Given the description of an element on the screen output the (x, y) to click on. 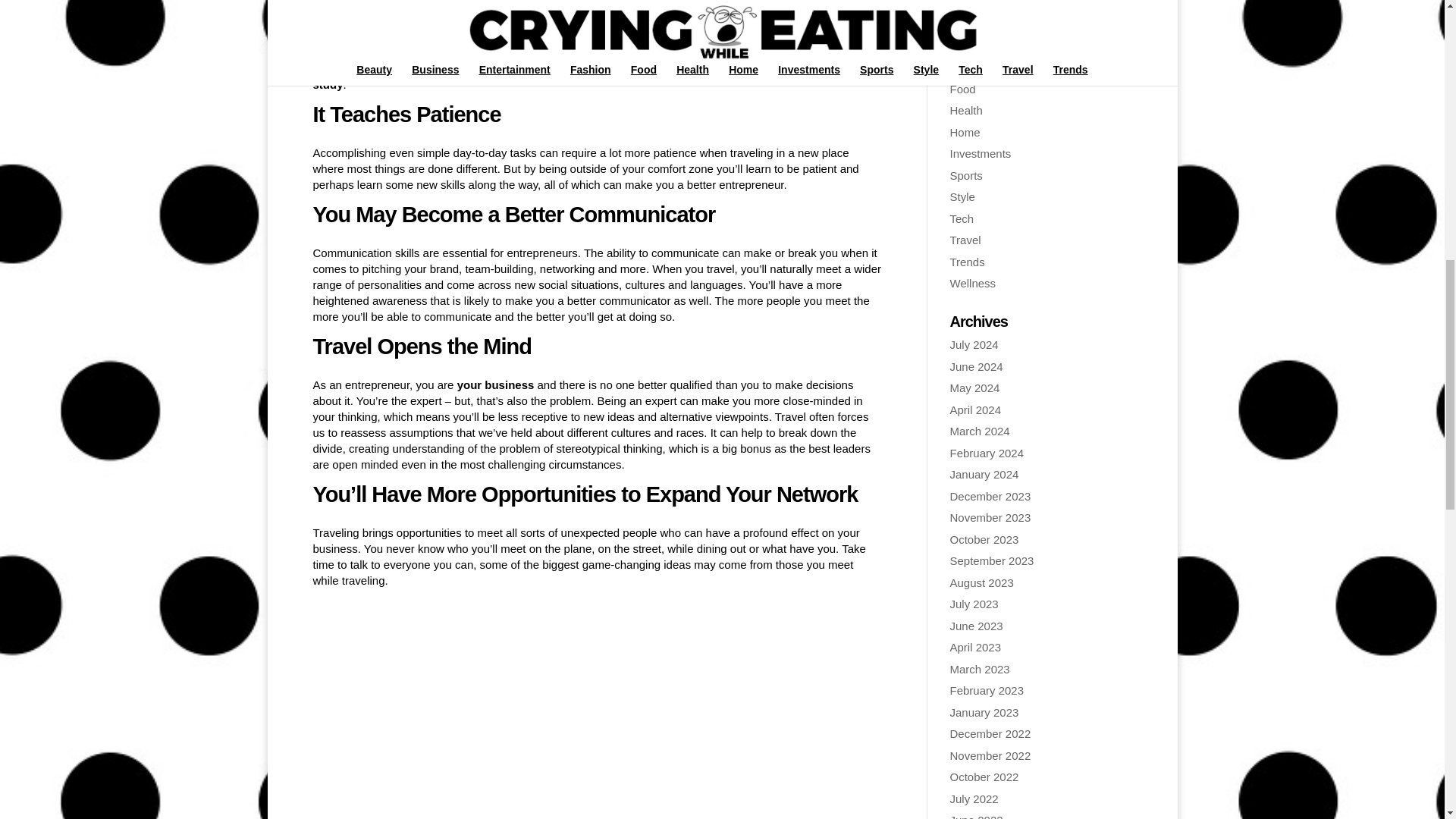
according to a 2009 study (585, 76)
your business (495, 384)
